Given the description of an element on the screen output the (x, y) to click on. 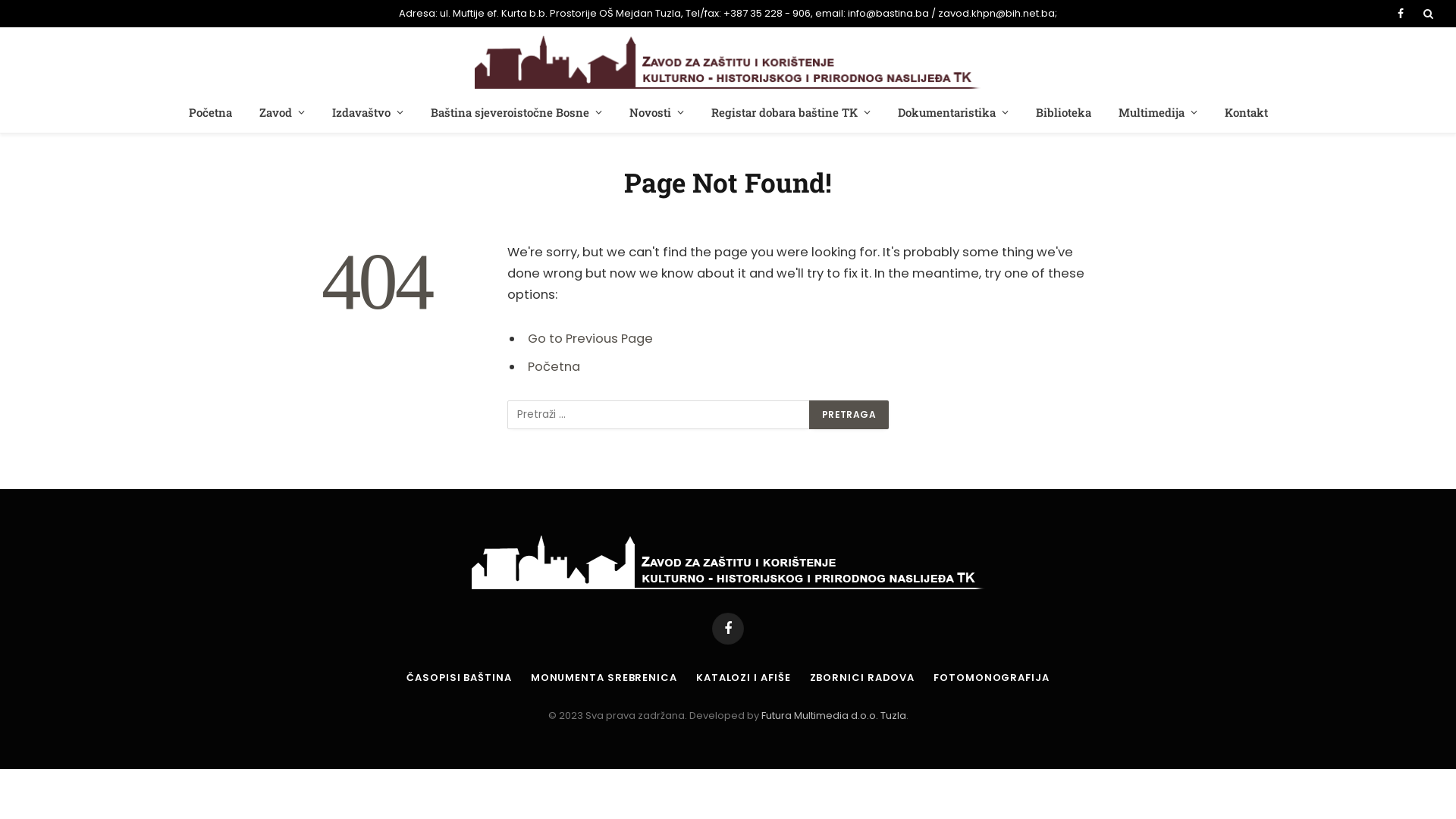
Multimedija Element type: text (1157, 111)
Futura Multimedia d.o.o. Tuzla Element type: text (833, 715)
Kontakt Element type: text (1245, 111)
Facebook Element type: text (1399, 13)
Facebook Element type: text (727, 628)
MONUMENTA SREBRENICA Element type: text (603, 677)
Dokumentaristika Element type: text (953, 111)
FOTOMONOGRAFIJA Element type: text (991, 677)
Go to Previous Page Element type: text (589, 338)
Biblioteka Element type: text (1063, 111)
Zavod Element type: text (281, 111)
ZBORNICI RADOVA Element type: text (862, 677)
Novosti Element type: text (656, 111)
Pretraga Element type: text (848, 414)
